Given the description of an element on the screen output the (x, y) to click on. 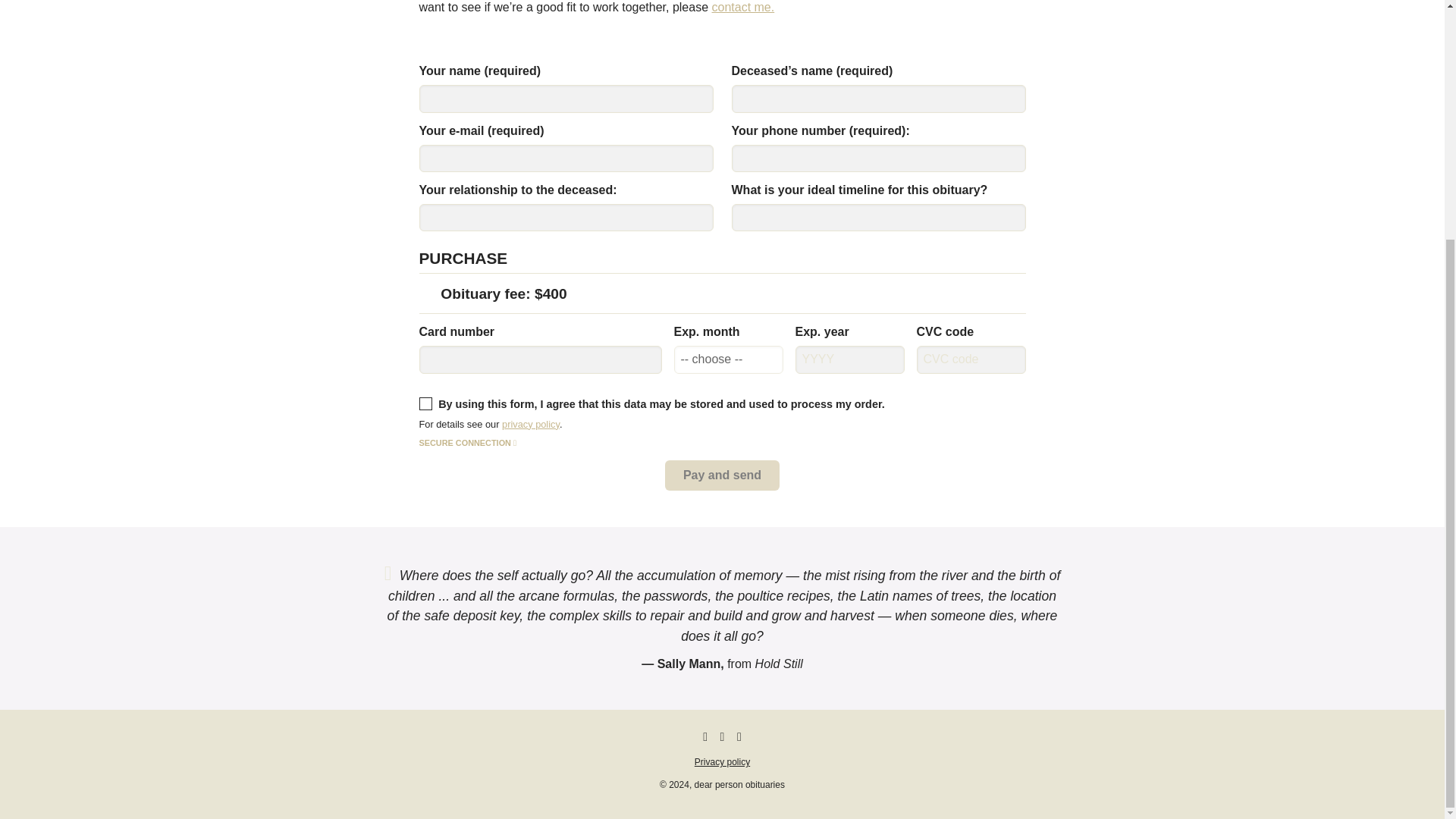
Pay and send (721, 475)
privacy policy (530, 423)
Privacy policy (721, 761)
contact me. (742, 6)
Pay and send (721, 475)
